Given the description of an element on the screen output the (x, y) to click on. 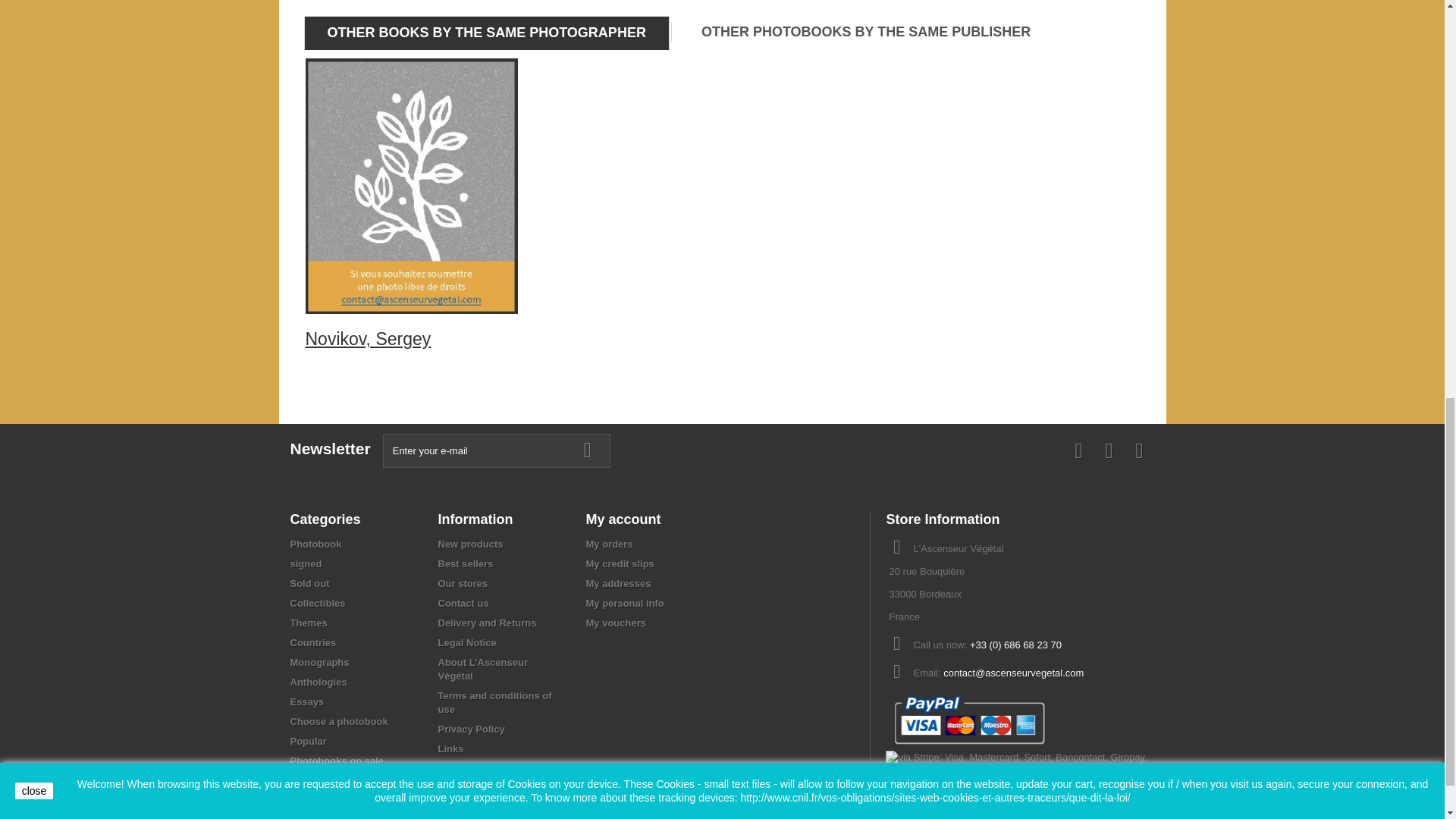
Enter your e-mail (496, 450)
